Given the description of an element on the screen output the (x, y) to click on. 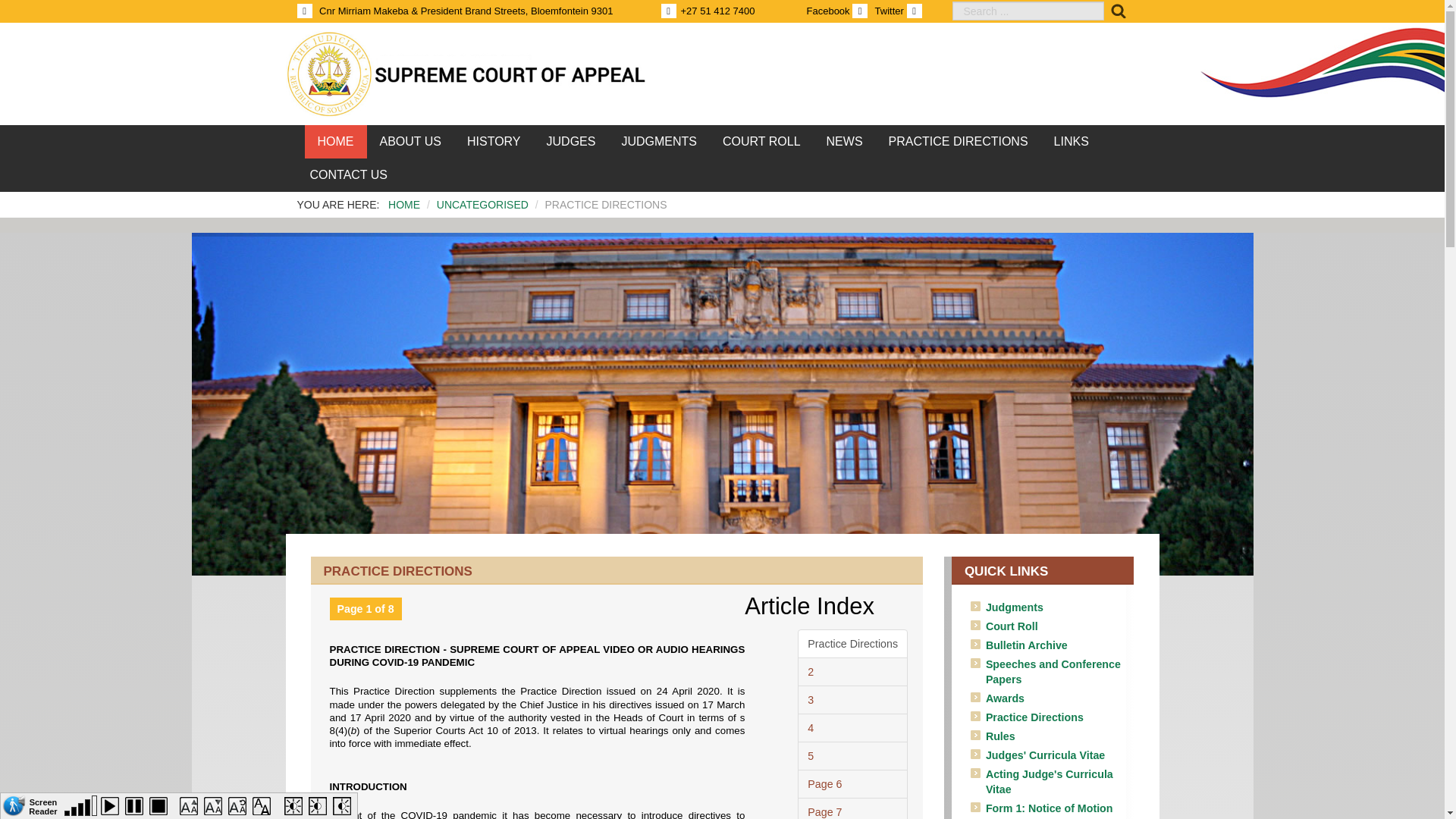
JUDGMENTS (659, 141)
UNCATEGORISED (482, 204)
ABOUT US (410, 141)
Court Roll (1011, 625)
HOME (335, 141)
5 (852, 756)
HOME (404, 204)
2 (852, 671)
Page 6 (852, 783)
 Final Roll May- Updated 19 May 2020 (761, 141)
Facebook (839, 10)
CONTACT US (349, 174)
JUDGES (571, 141)
3 (852, 699)
Page 7 (852, 808)
